Given the description of an element on the screen output the (x, y) to click on. 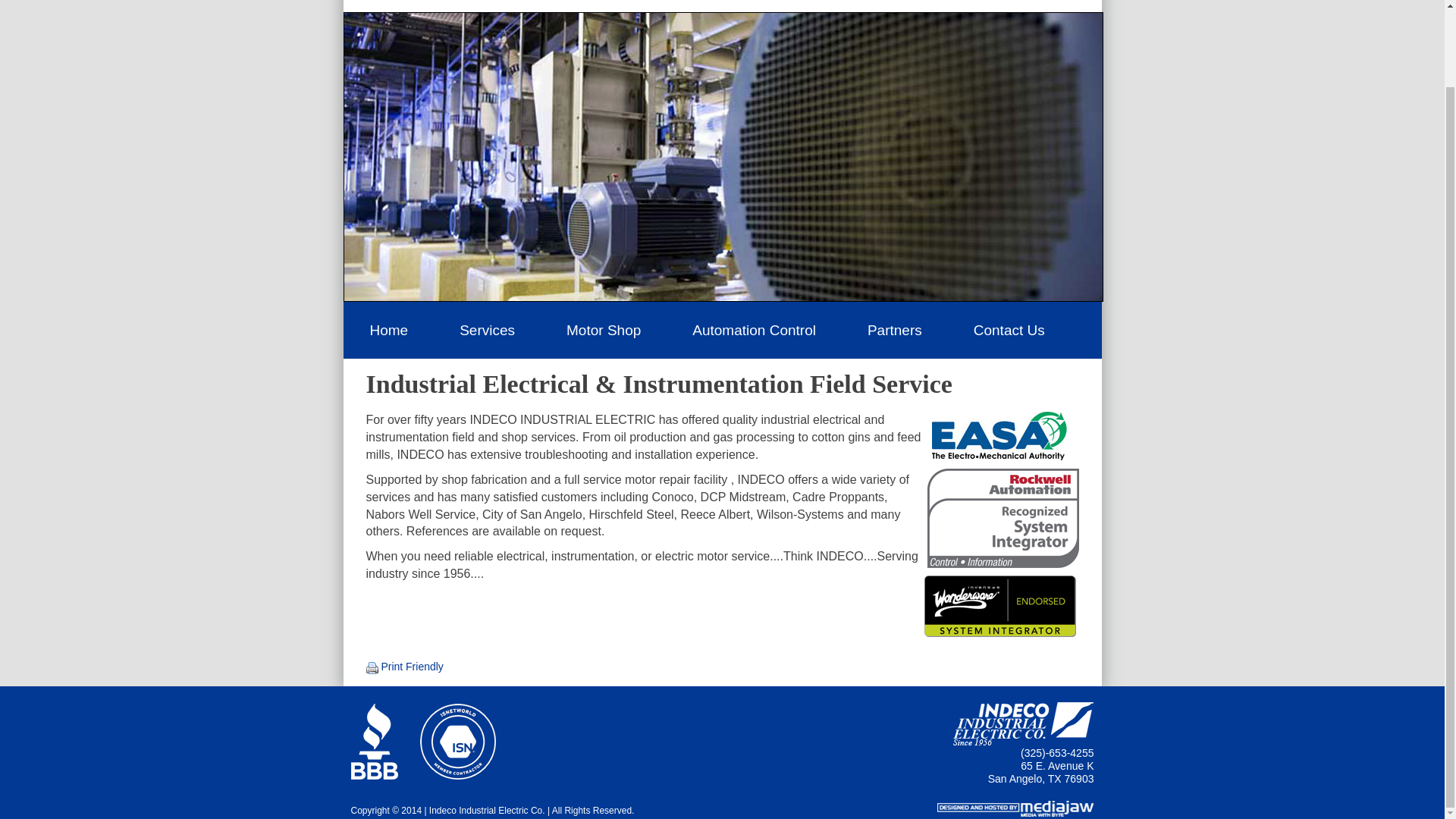
Motor Shop (603, 329)
Printer Friendly Layout (411, 666)
Partners (894, 329)
Automation Control (753, 329)
Printer Friendly Layout (371, 667)
Contact Us (1008, 329)
Home (388, 329)
Print Friendly (411, 666)
Services (486, 329)
